Given the description of an element on the screen output the (x, y) to click on. 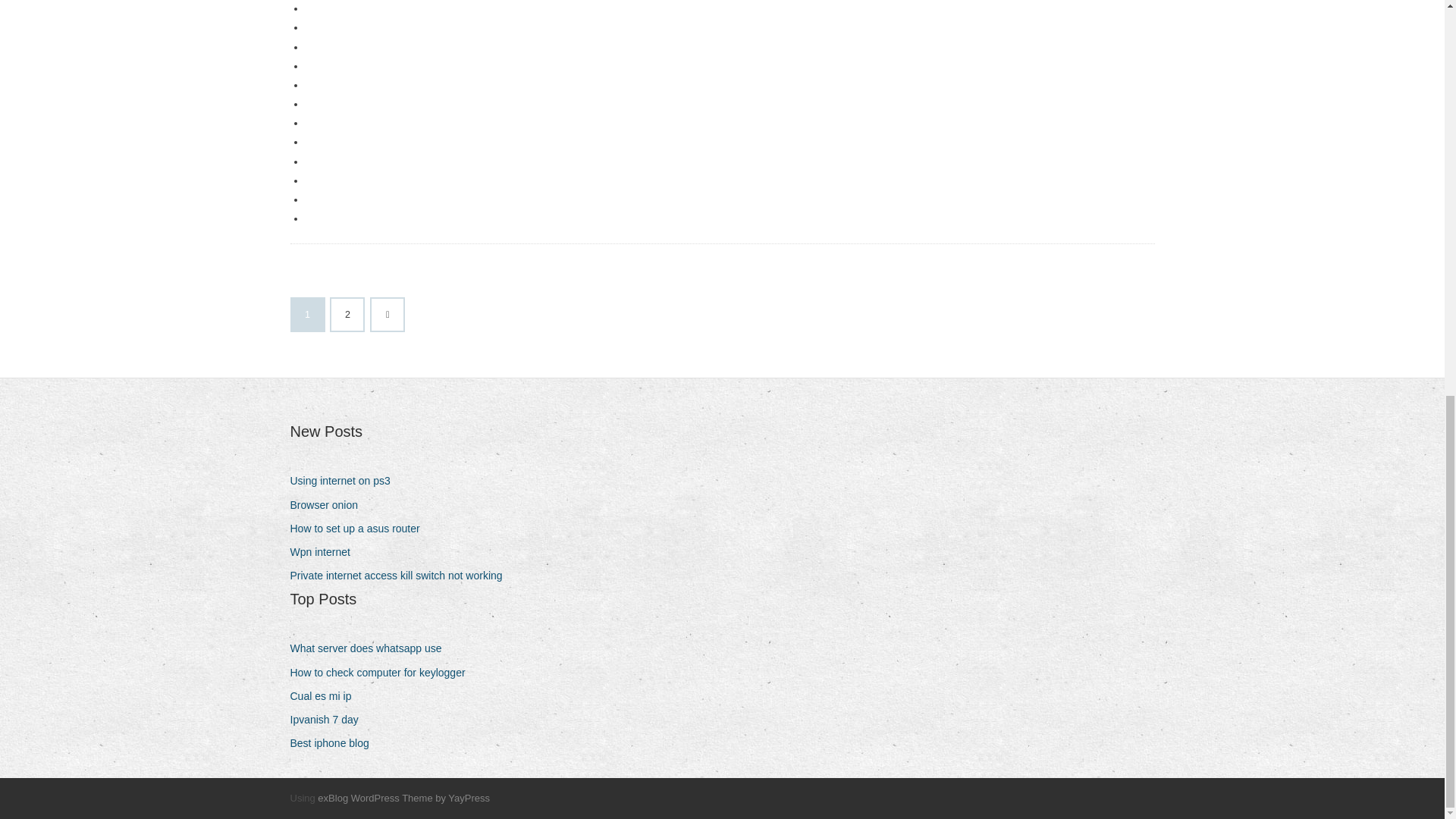
Best iphone blog (334, 743)
Using internet on ps3 (345, 480)
What server does whatsapp use (370, 648)
Private internet access kill switch not working (401, 575)
How to check computer for keylogger (382, 672)
Cual es mi ip (325, 696)
Browser onion (329, 505)
exBlog WordPress Theme by YayPress (403, 797)
How to set up a asus router (359, 528)
Ipvanish 7 day (329, 720)
